Given the description of an element on the screen output the (x, y) to click on. 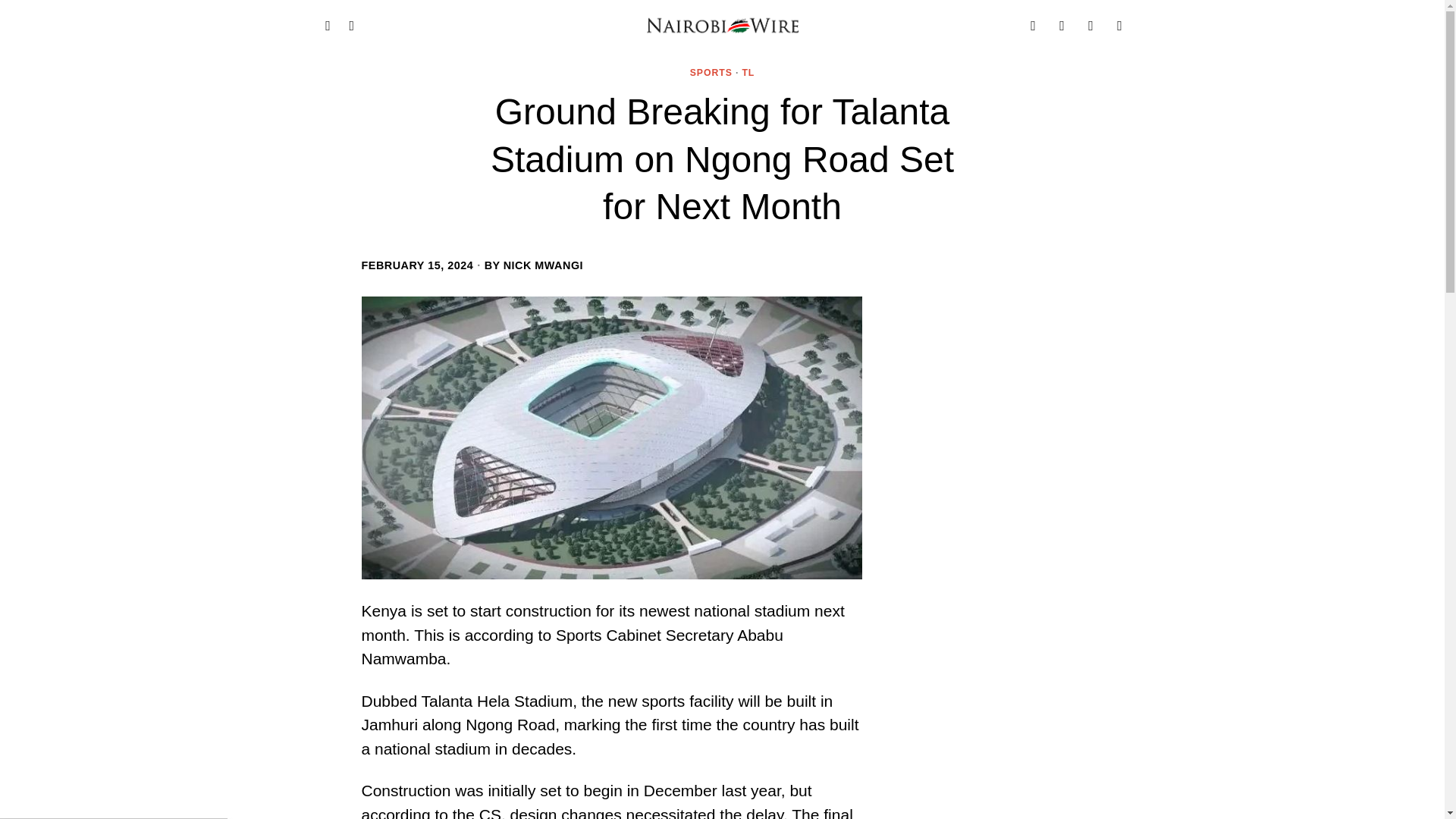
NICK MWANGI (543, 264)
SPORTS (711, 73)
TL (747, 73)
15 Feb, 2024 15:02:23 (417, 264)
